Given the description of an element on the screen output the (x, y) to click on. 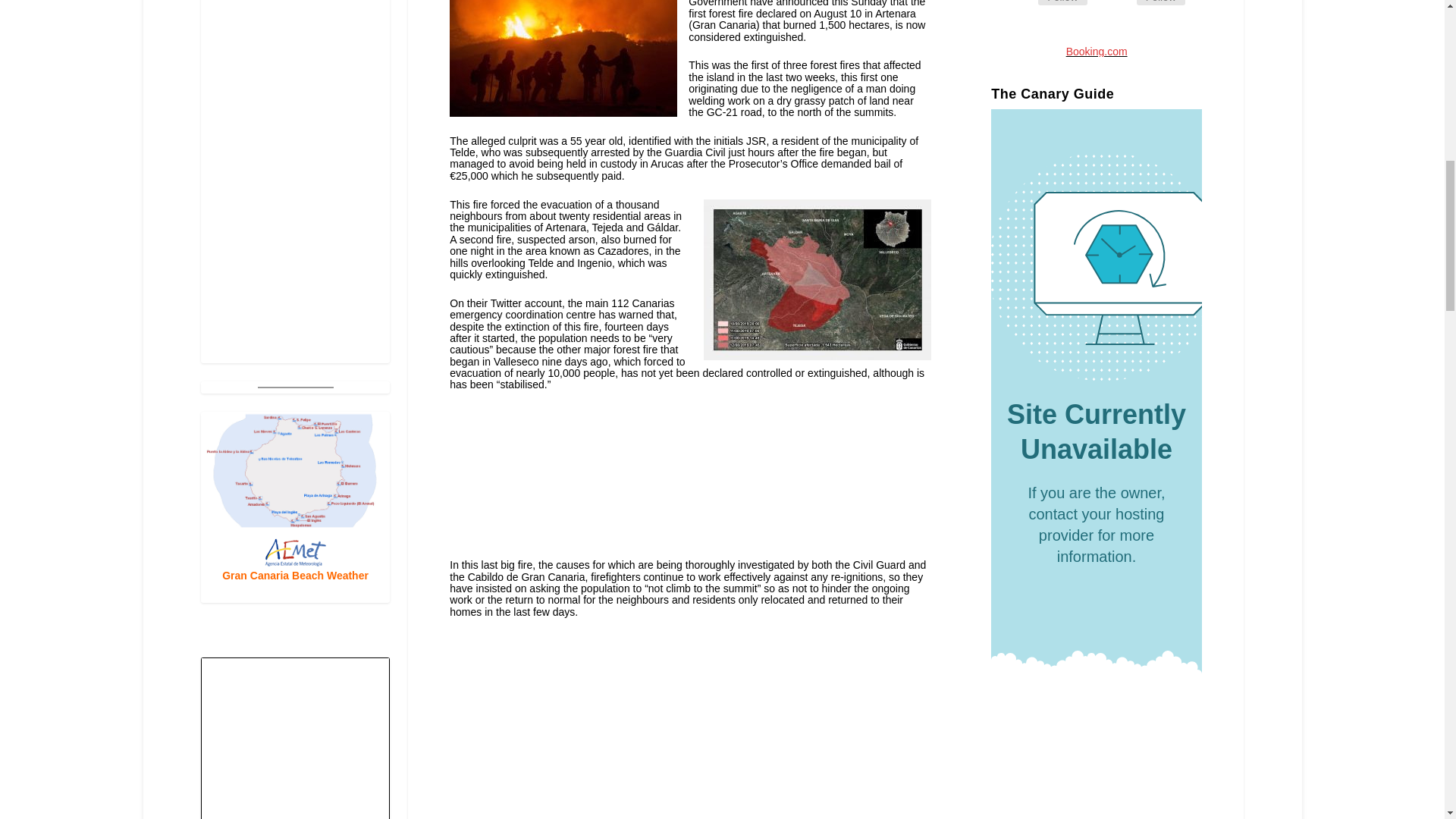
Booking.com (1095, 51)
Facebook (1062, 2)
Follow on Facebook (1019, 4)
Follow on Twitter (1118, 4)
Follow (1062, 2)
